Given the description of an element on the screen output the (x, y) to click on. 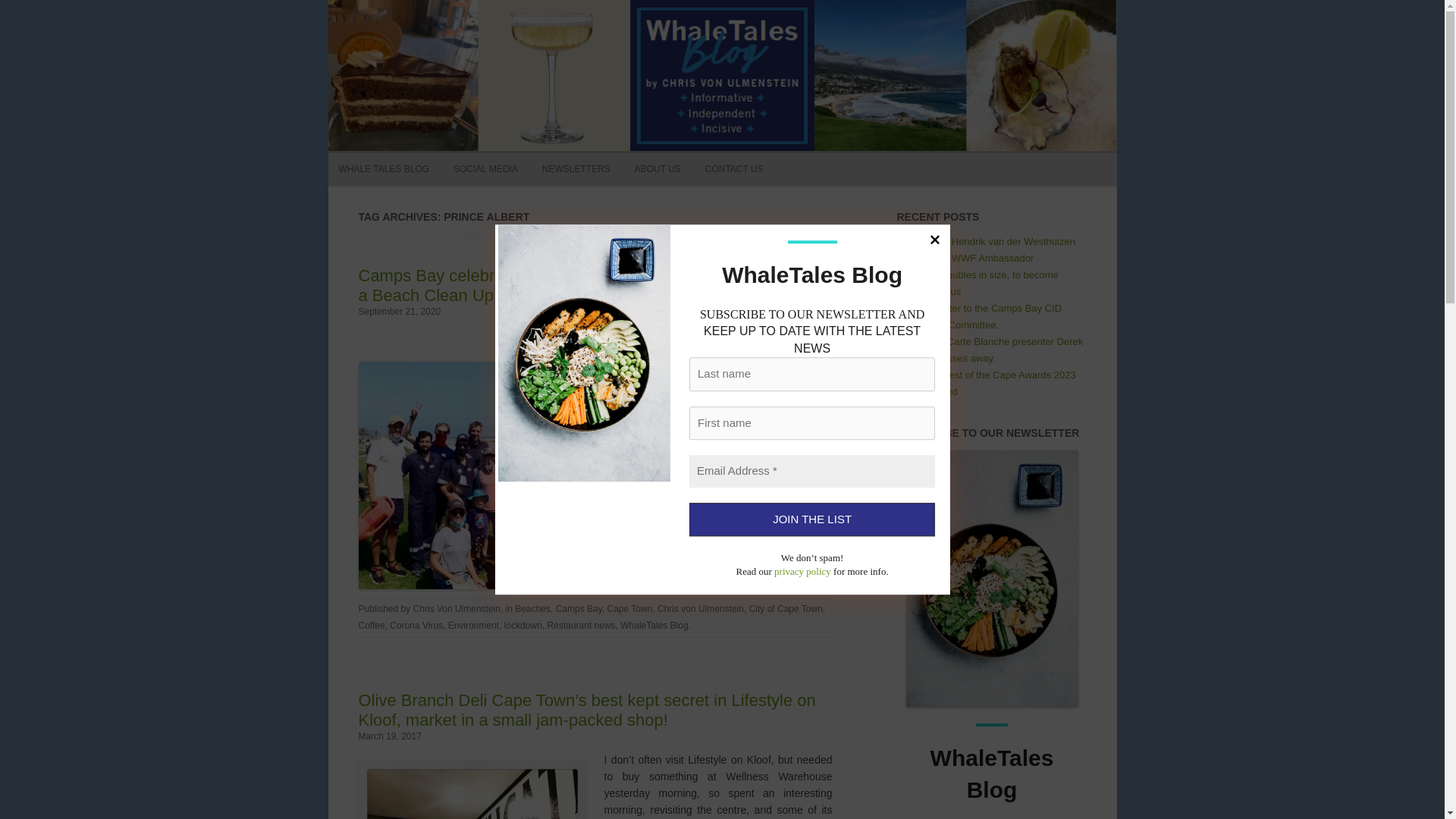
Search (777, 122)
WHALE TALES BLOG (383, 168)
Environment (473, 624)
WhaleTales Blog (653, 624)
JOIN THE LIST (811, 519)
Search (777, 122)
NEWSLETTERS (575, 168)
lockdown (522, 624)
March 19, 2017 (389, 736)
Restaurant news (581, 624)
Beaches (532, 608)
Skip to content (757, 157)
September 21, 2020 (399, 311)
